Given the description of an element on the screen output the (x, y) to click on. 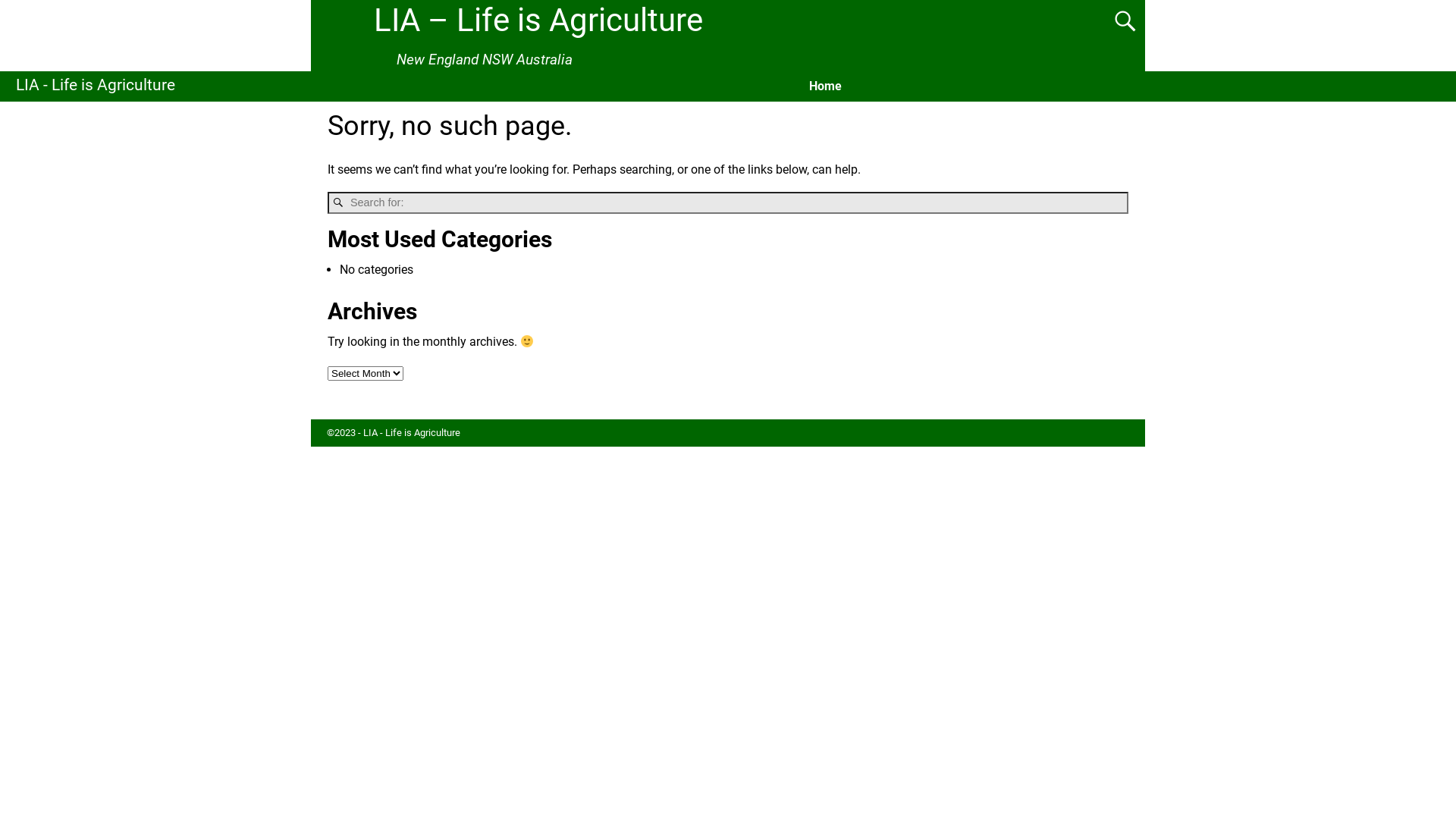
Home Element type: text (825, 86)
LIA - Life is Agriculture Element type: text (411, 432)
LIA - Life is Agriculture Element type: text (95, 84)
